Given the description of an element on the screen output the (x, y) to click on. 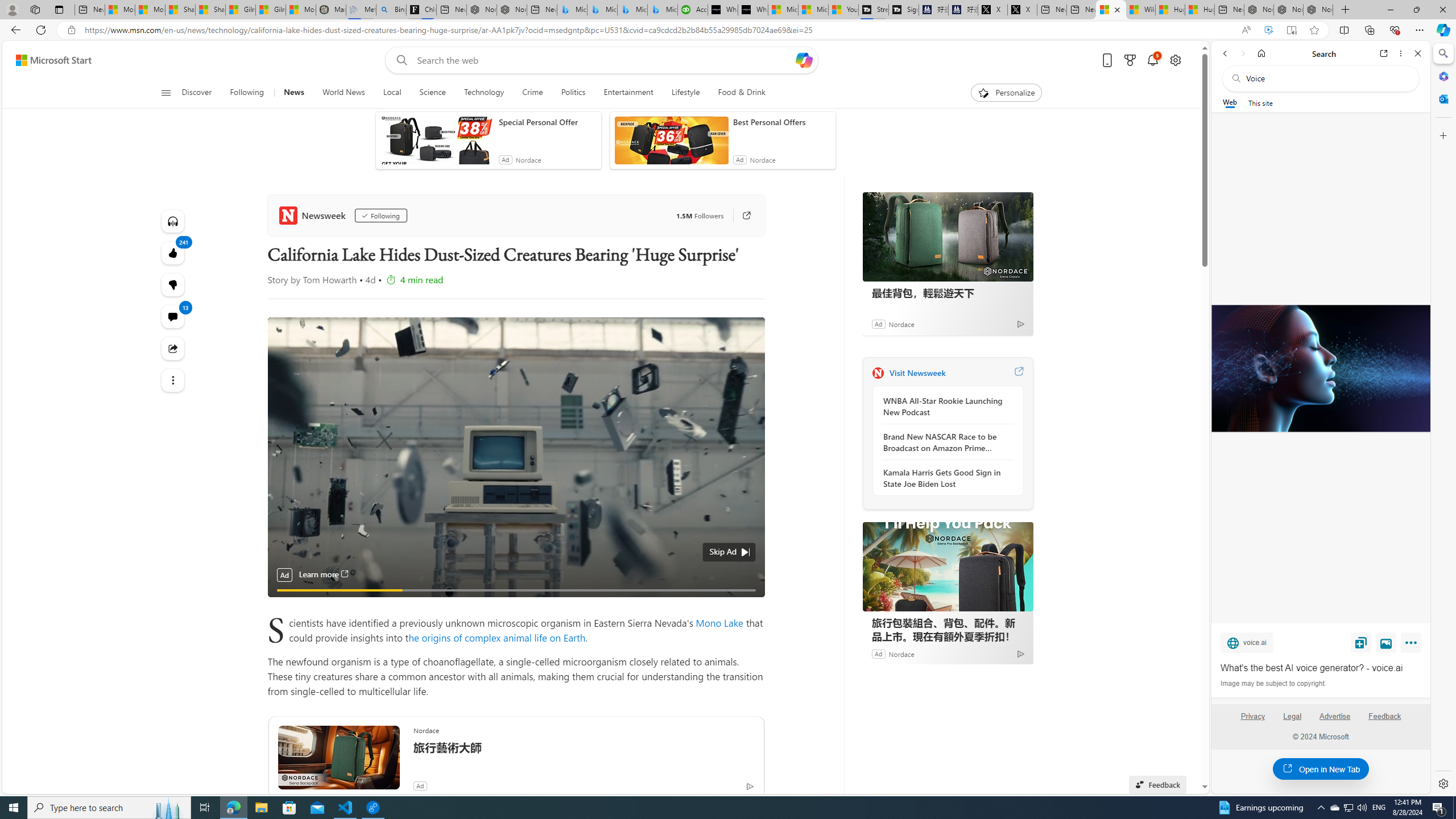
Food & Drink (741, 92)
View comments 13 Comment (172, 316)
Politics (573, 92)
Privacy (1252, 715)
Nordace - Siena Pro 15 Essential Set (1318, 9)
Feedback (1384, 715)
Local (392, 92)
Accounting Software for Accountants, CPAs and Bookkeepers (691, 9)
Learn more (323, 574)
